Given the description of an element on the screen output the (x, y) to click on. 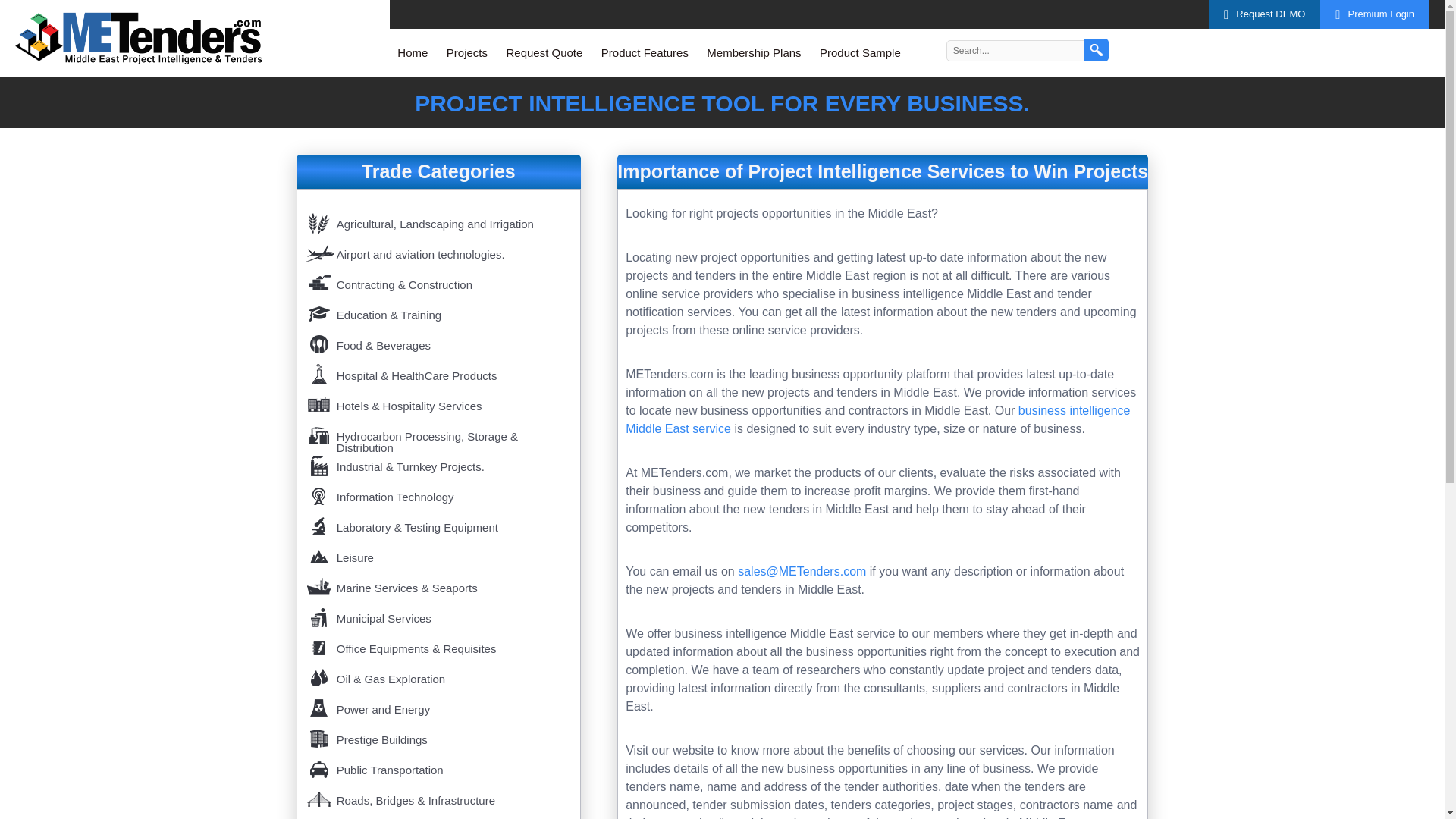
Leisure (438, 554)
Projects (467, 52)
submit (1096, 49)
Prestige Buildings (438, 736)
Membership Plans (753, 52)
Airport and aviation technologies. (438, 250)
Request DEMO (1264, 14)
Product Features (644, 52)
Municipal Services (438, 615)
Agricultural, Landscaping and Irrigation (438, 220)
Premium Login (1374, 14)
Home (412, 52)
Public Transportation (438, 766)
Information Technology (438, 493)
Product Sample (860, 52)
